Given the description of an element on the screen output the (x, y) to click on. 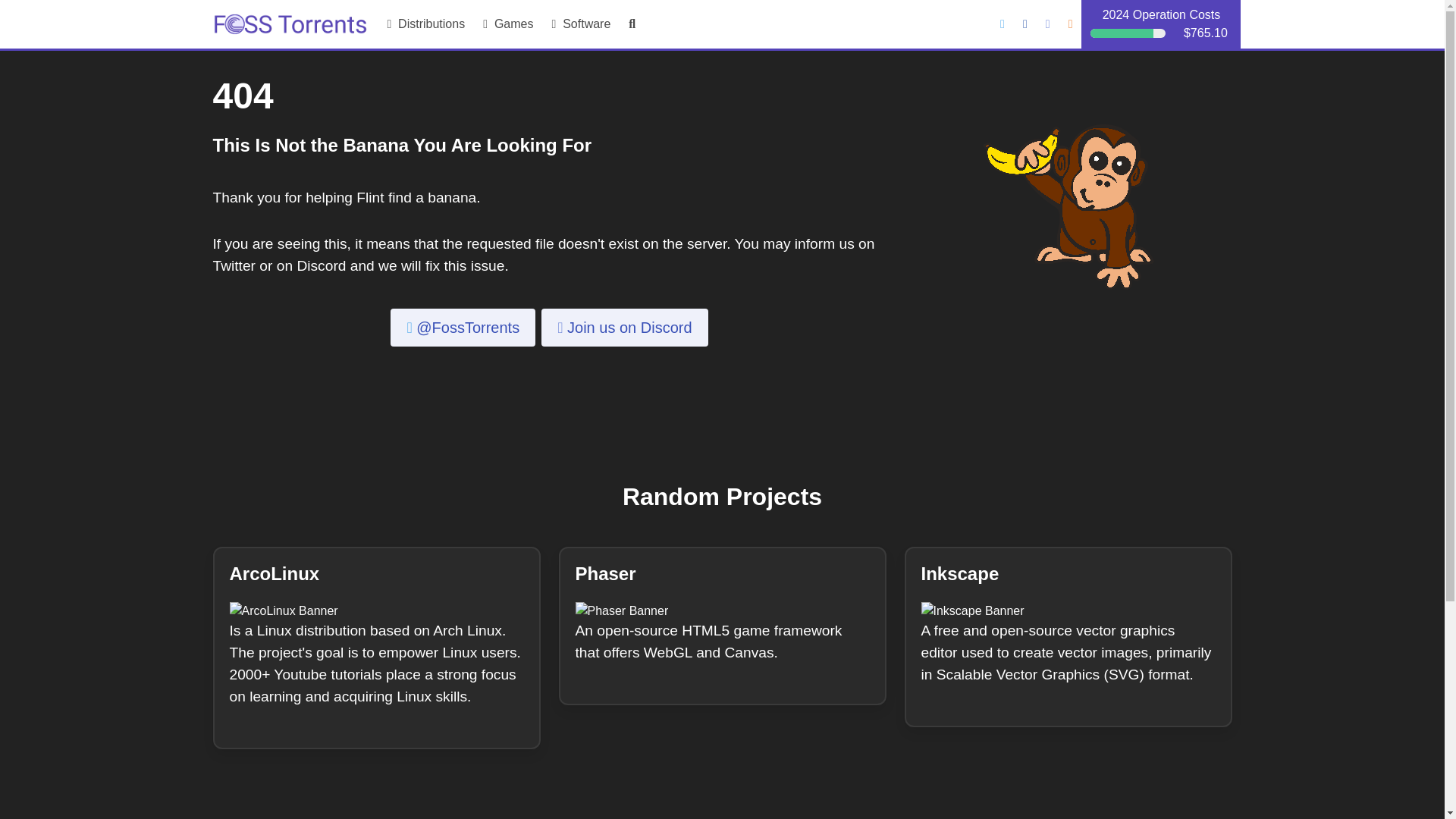
  Distributions (425, 24)
  Software (580, 24)
  Games (507, 24)
 Join us on Discord (624, 327)
